Given the description of an element on the screen output the (x, y) to click on. 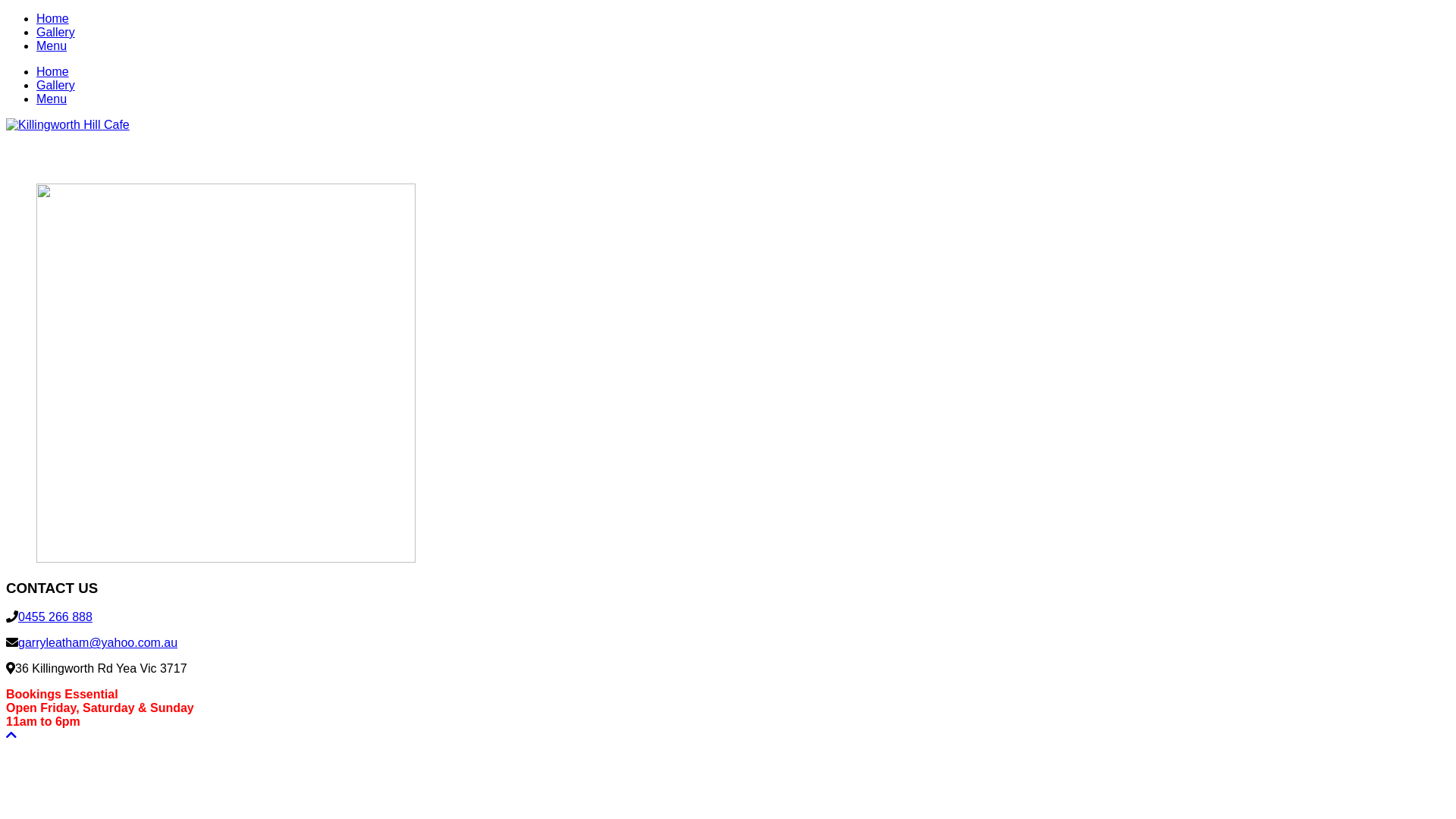
Menu Element type: text (51, 98)
Killingworth Hill Cafe - Cafe & Whisky Bar in Yea Victoria Element type: hover (67, 124)
garryleatham@yahoo.com.au Element type: text (97, 642)
Home Element type: text (52, 71)
36 Killingworth Rd Yea Vic 3717 Element type: text (101, 668)
Menu Element type: text (51, 45)
Gallery Element type: text (55, 31)
Home Element type: text (52, 18)
0455 266 888 Element type: text (55, 616)
Gallery Element type: text (55, 84)
